Given the description of an element on the screen output the (x, y) to click on. 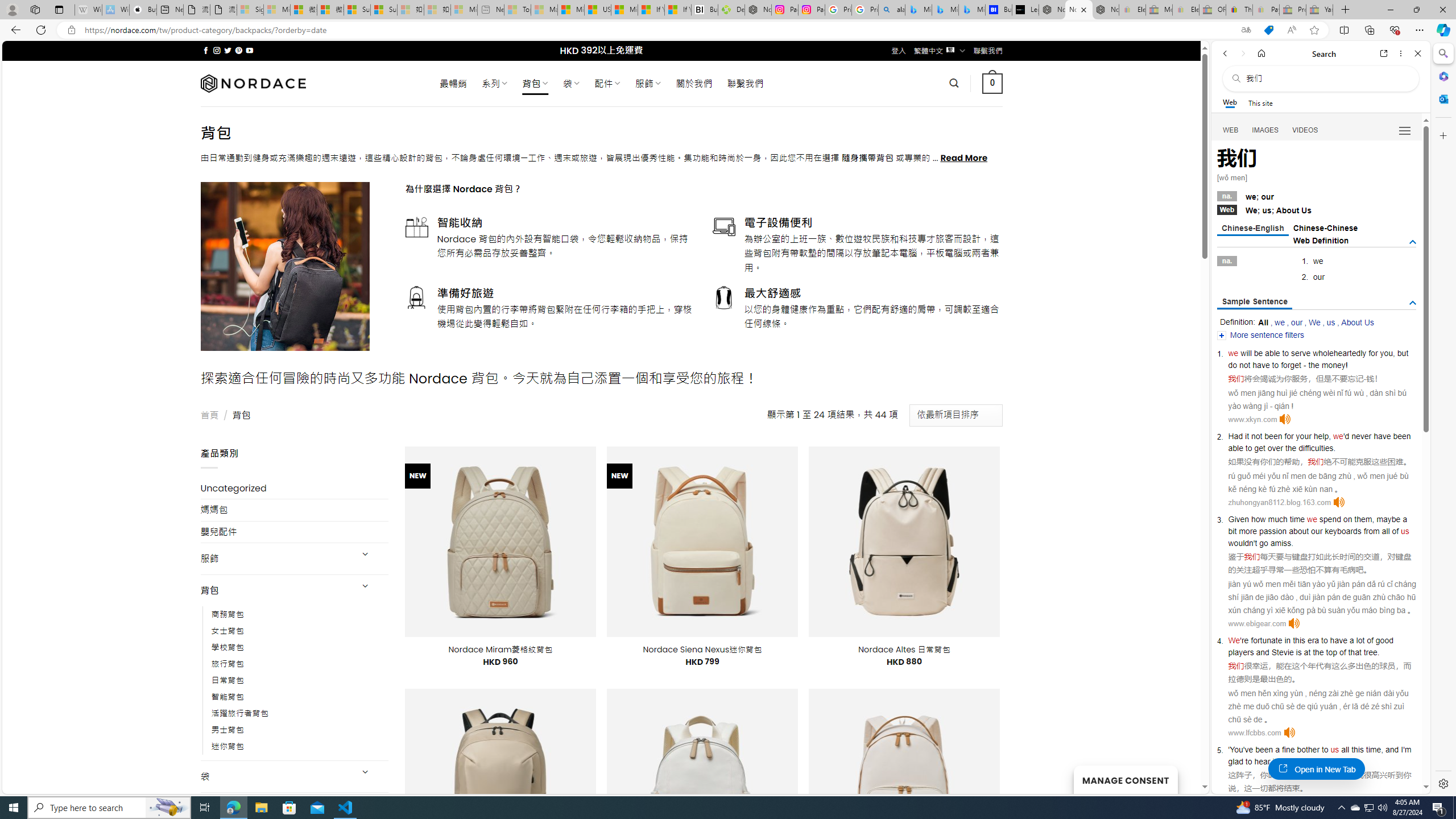
AutomationID: tgdef (1412, 241)
our (1296, 322)
Read More (964, 157)
Threats and offensive language policy | eBay (1239, 9)
amiss (1280, 542)
lot (1360, 640)
Web scope (1230, 102)
